Given the description of an element on the screen output the (x, y) to click on. 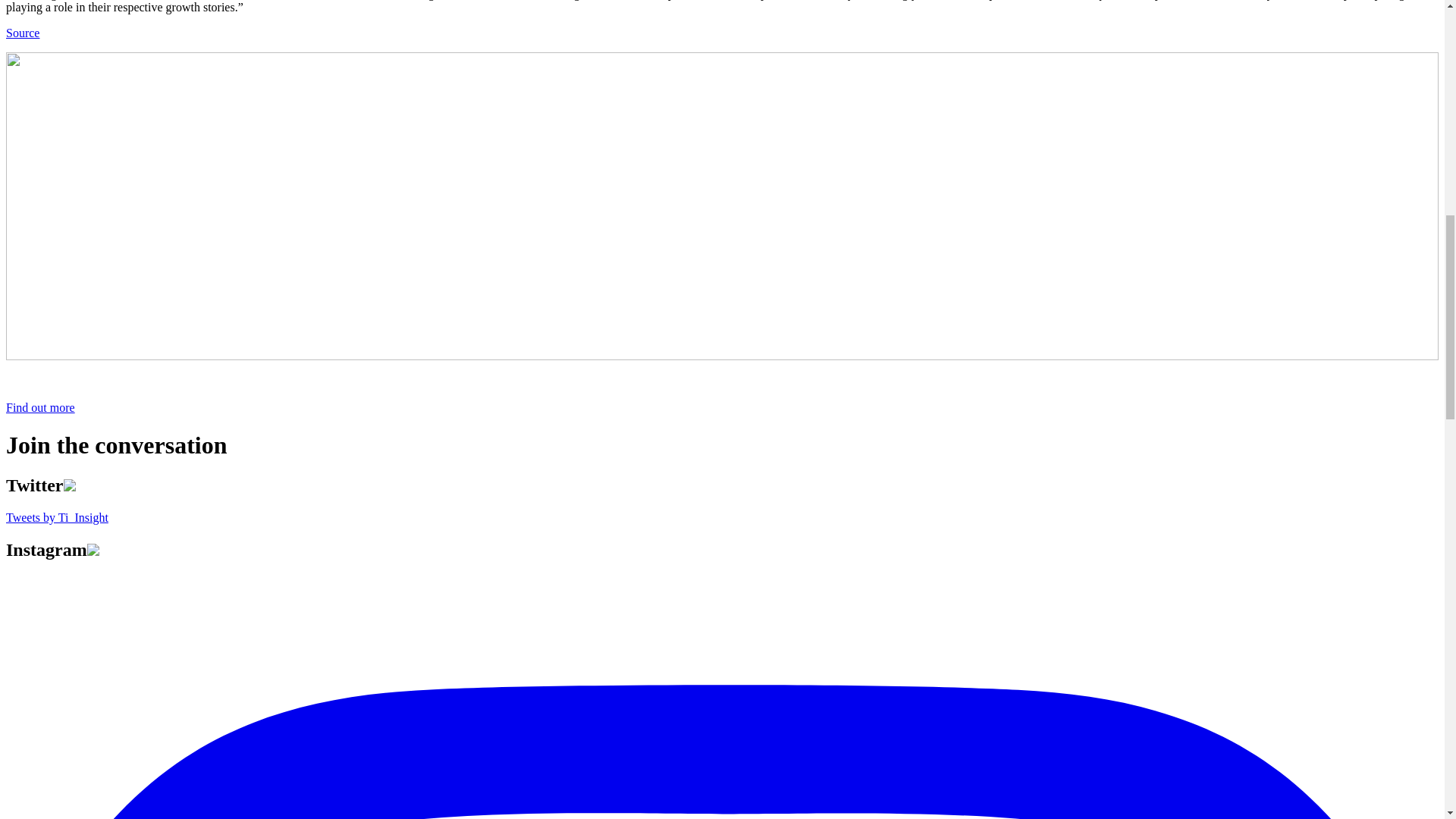
Source (22, 32)
Find out more (40, 407)
